Given the description of an element on the screen output the (x, y) to click on. 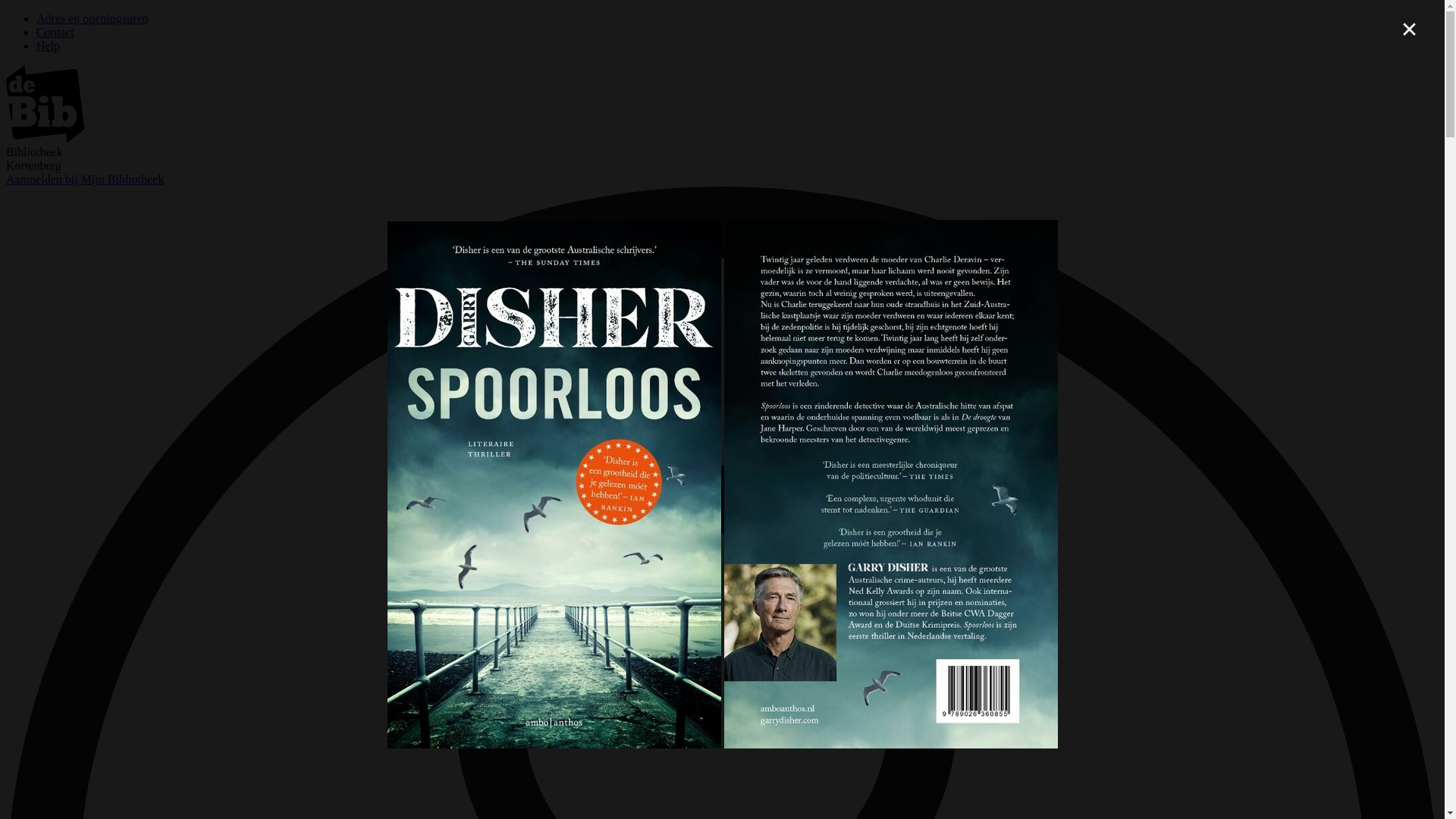
Overslaan en naar zoeken gaan Element type: text (6, 12)
Help Element type: text (47, 45)
Adres en openingsuren Element type: text (92, 18)
Aanmelden bij Mijn Bibliotheek Element type: text (84, 178)
image/svg+xml Element type: text (45, 137)
Contact Element type: text (55, 31)
